Given the description of an element on the screen output the (x, y) to click on. 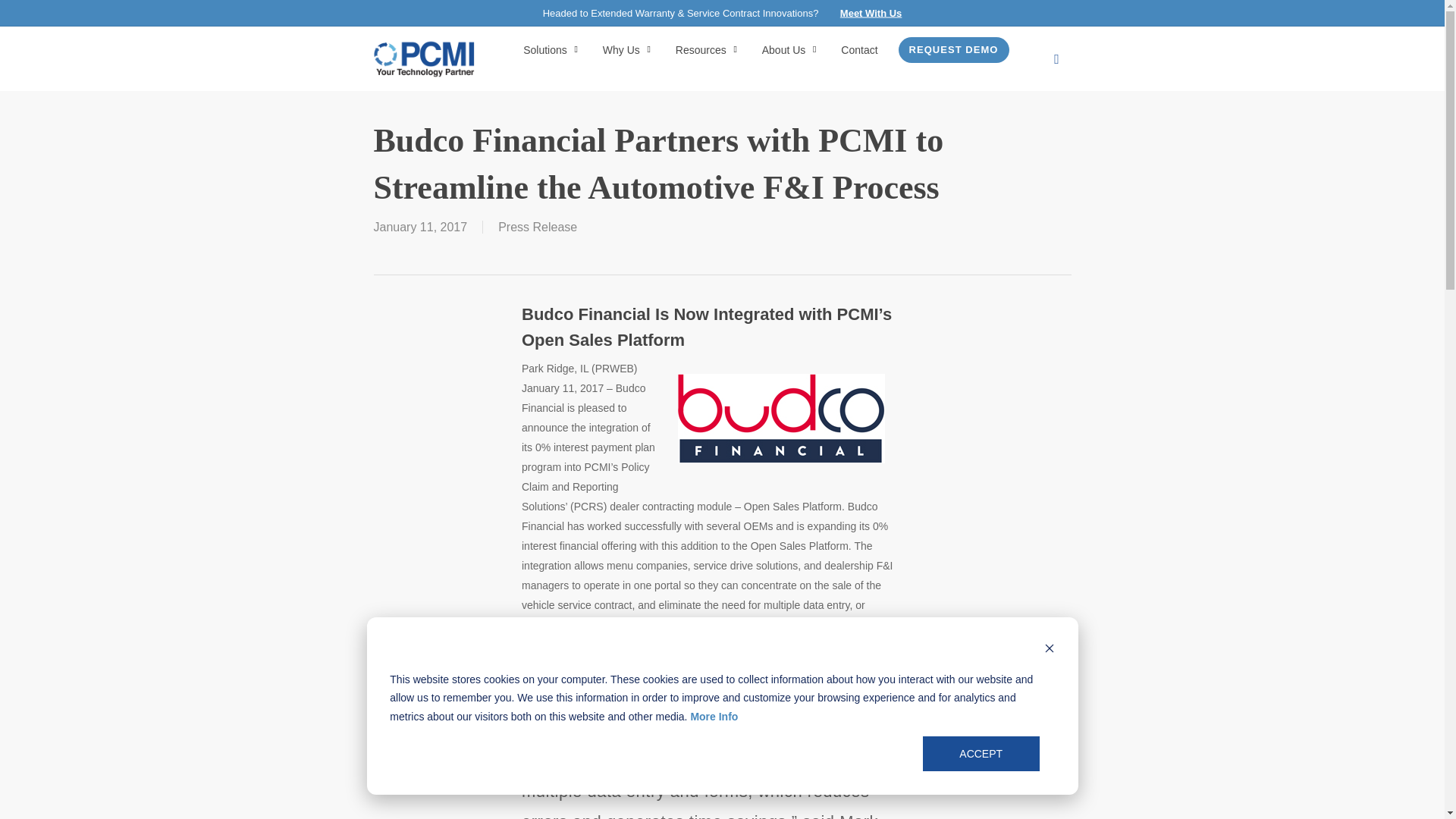
Why Us (628, 49)
Meet With Us (871, 12)
Solutions (552, 49)
Resources (708, 49)
